Given the description of an element on the screen output the (x, y) to click on. 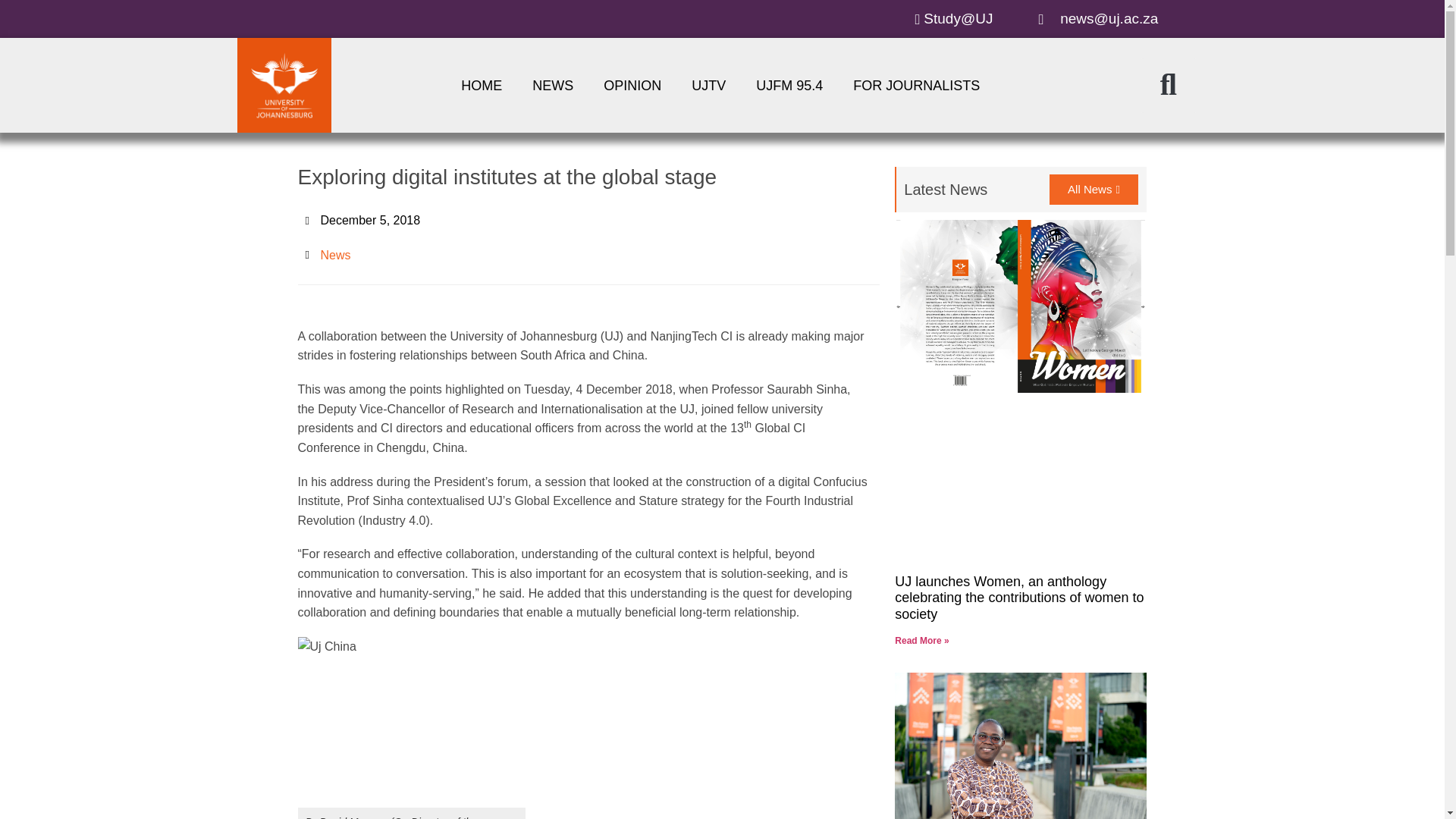
NEWS (552, 85)
HOME (480, 85)
FOR JOURNALISTS (916, 85)
UJFM 95.4 (789, 85)
UJTV (709, 85)
OPINION (632, 85)
